Given the description of an element on the screen output the (x, y) to click on. 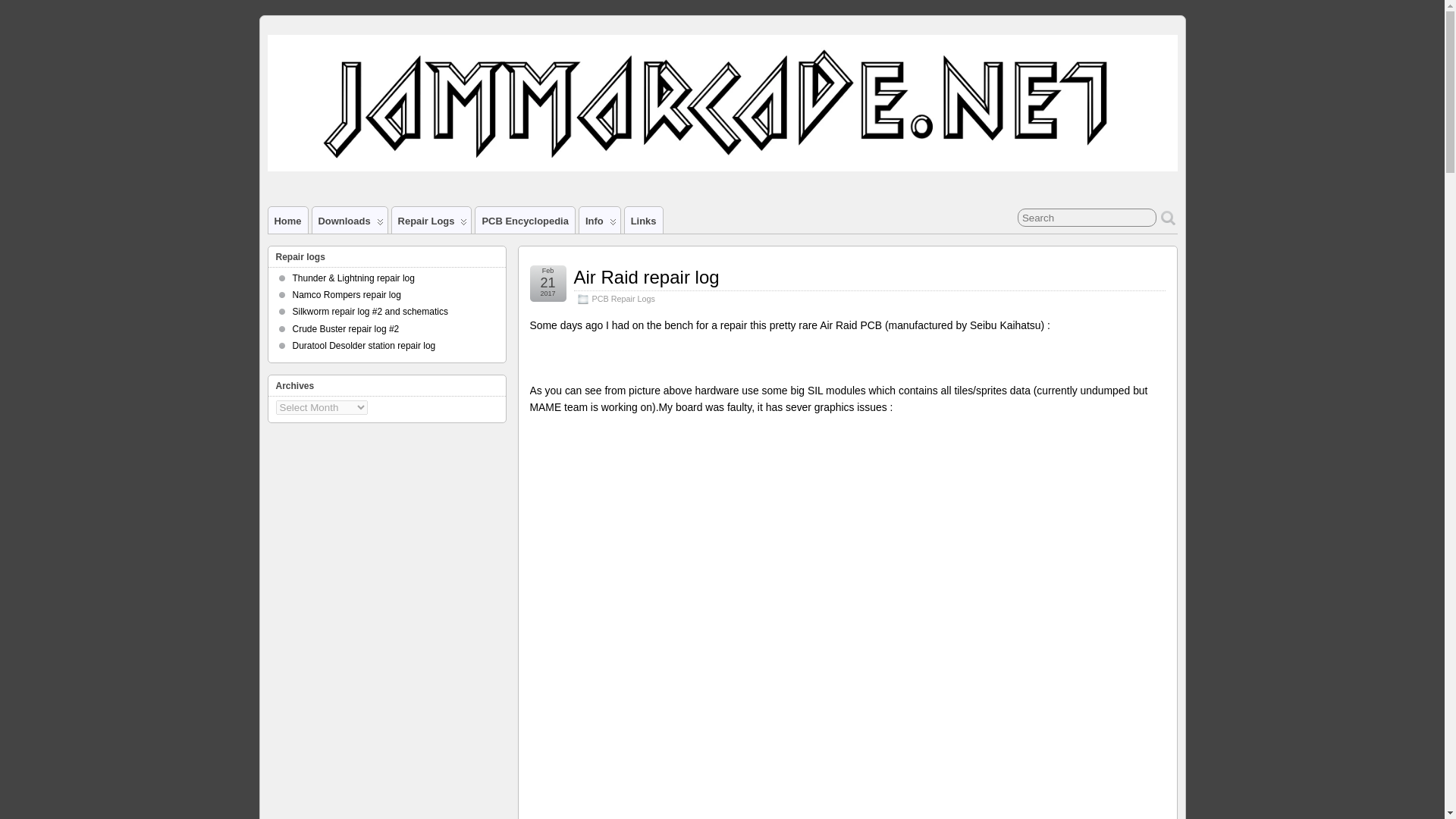
 Downloads (350, 220)
 Info (599, 220)
Air Raid repair log (646, 276)
Links (643, 220)
 Repair Logs (431, 220)
Namco Rompers repair log (346, 294)
PCB Repair Logs (622, 298)
Home (287, 220)
Duratool Desolder station repair log (363, 345)
Air Raid repair log (646, 276)
